Given the description of an element on the screen output the (x, y) to click on. 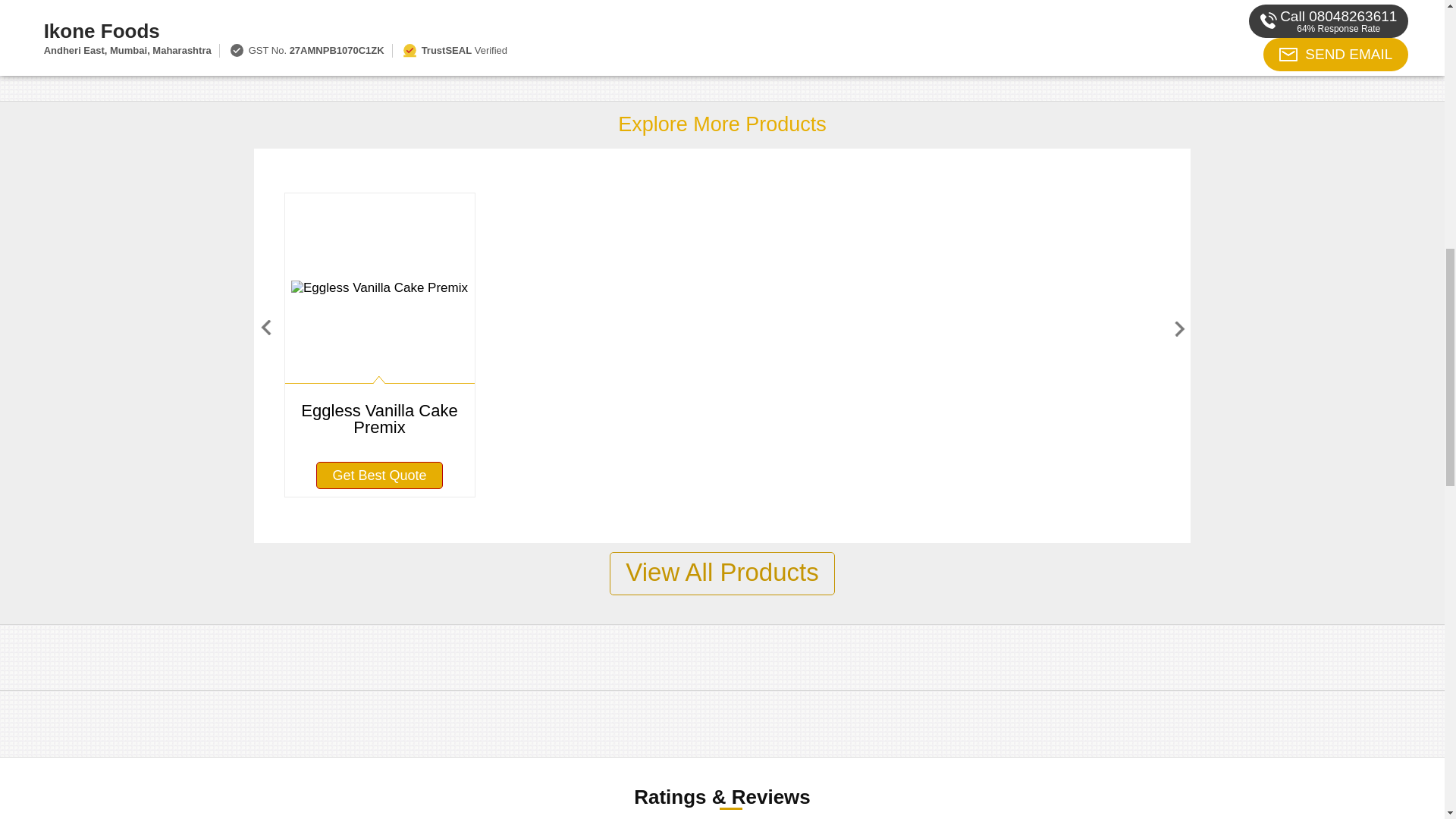
View All Products (722, 573)
